Given the description of an element on the screen output the (x, y) to click on. 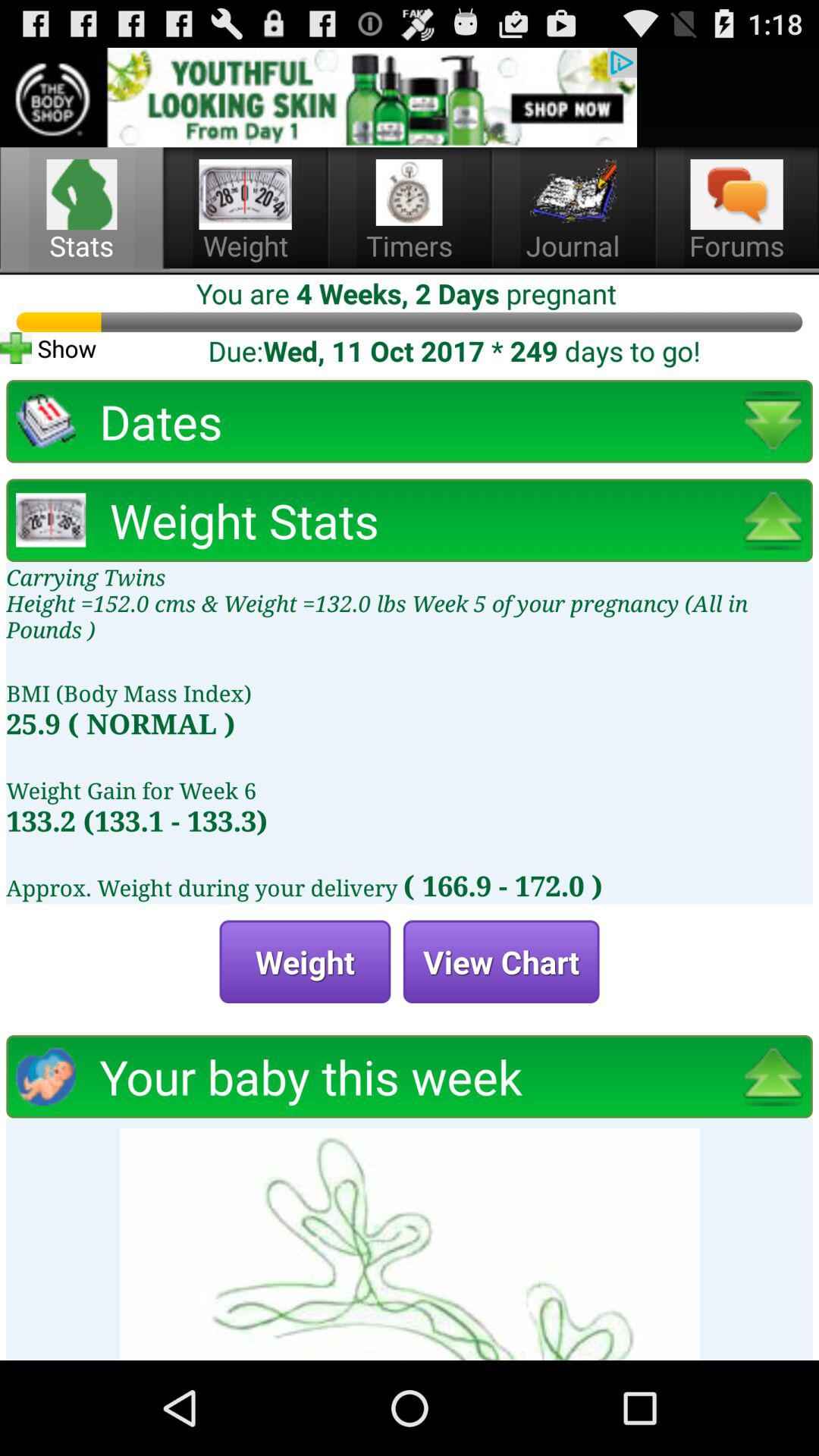
open advertisement (318, 97)
